Given the description of an element on the screen output the (x, y) to click on. 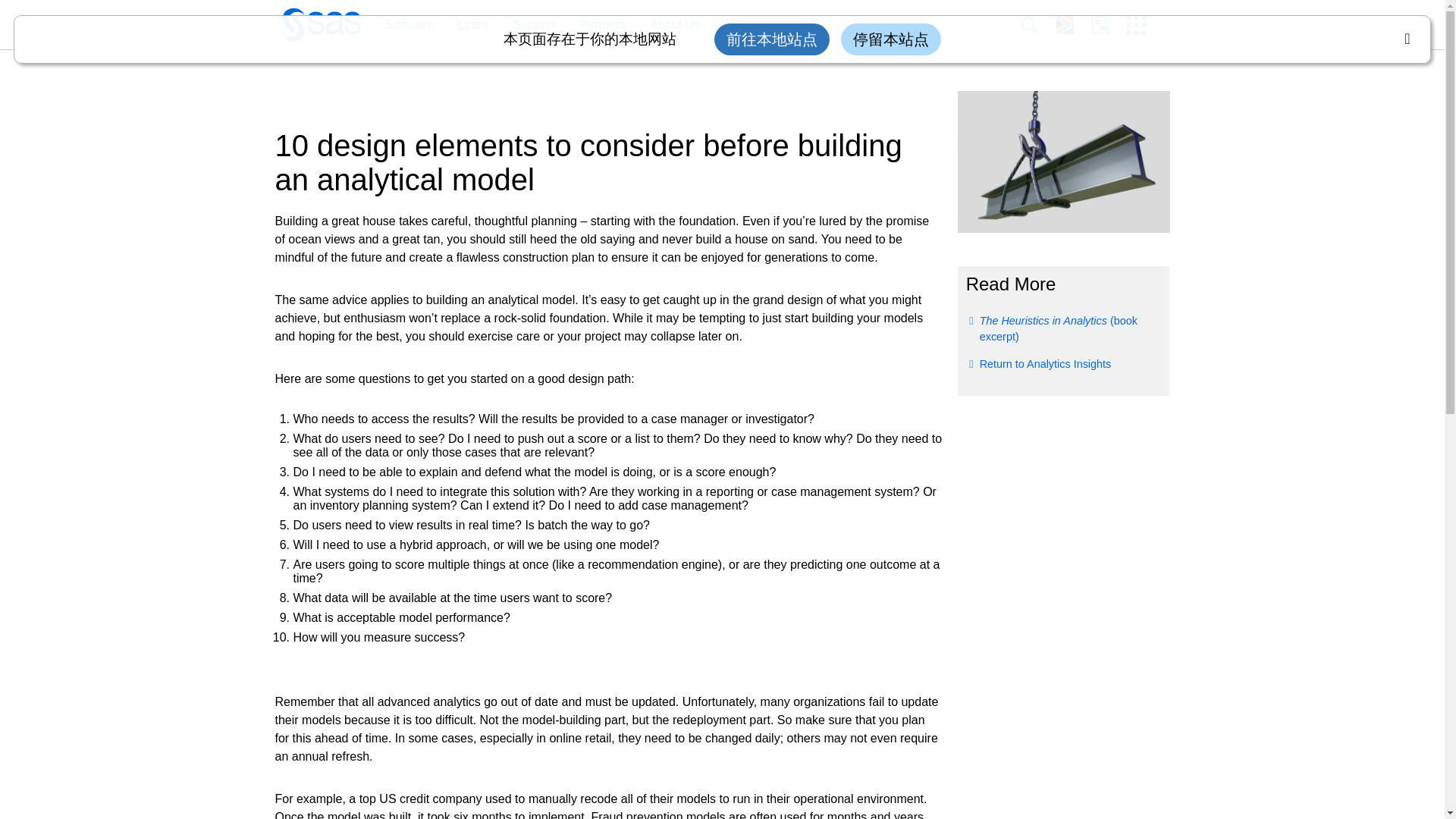
Partners (602, 24)
Search (1037, 25)
Support (534, 24)
SAS Sites (1141, 25)
Worldwide Sites (1072, 24)
Software (401, 24)
About Us (674, 24)
Return to Analytics Insights (1045, 363)
About Us (667, 24)
